Given the description of an element on the screen output the (x, y) to click on. 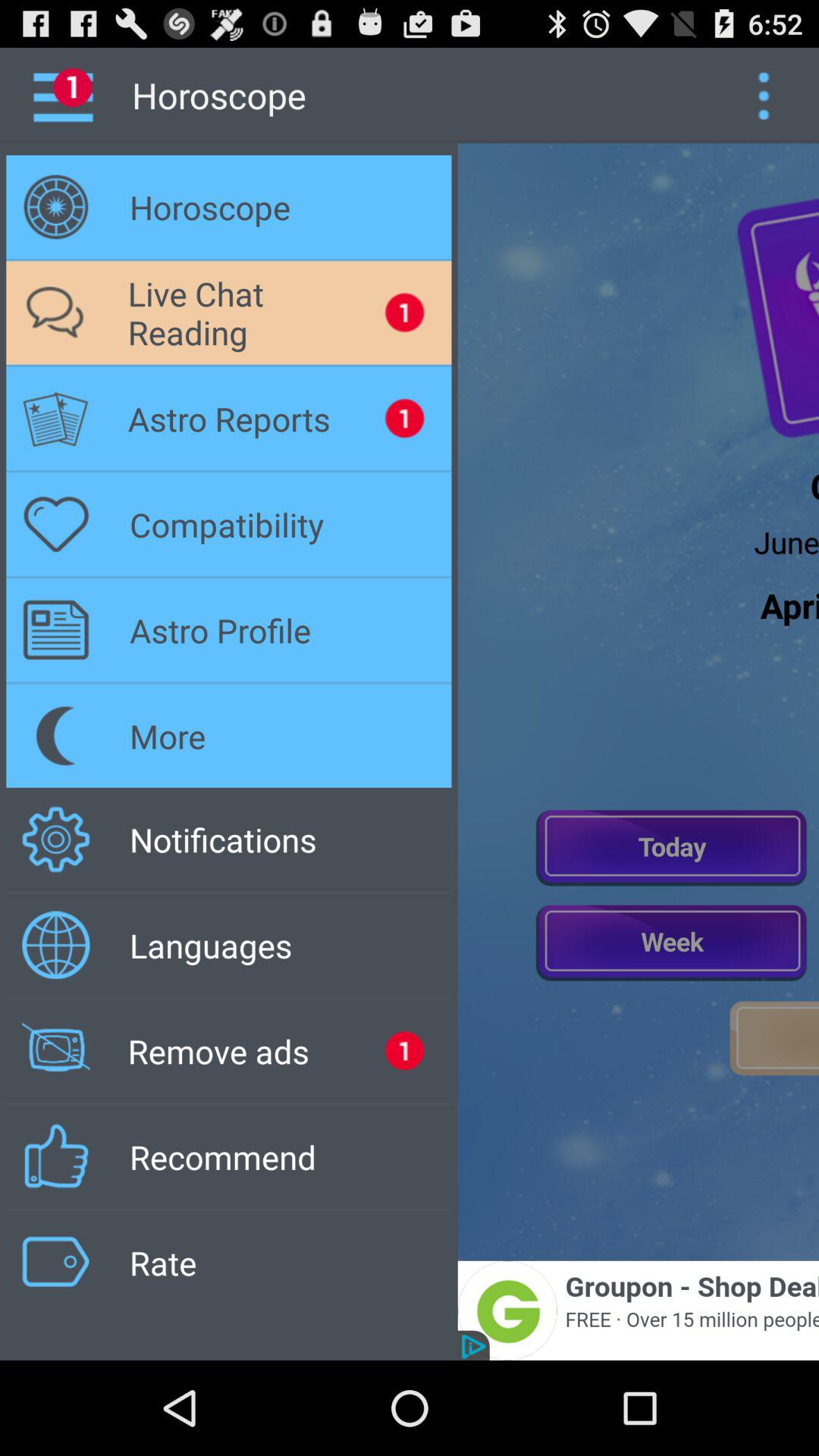
see today 's horoscope (671, 845)
